Given the description of an element on the screen output the (x, y) to click on. 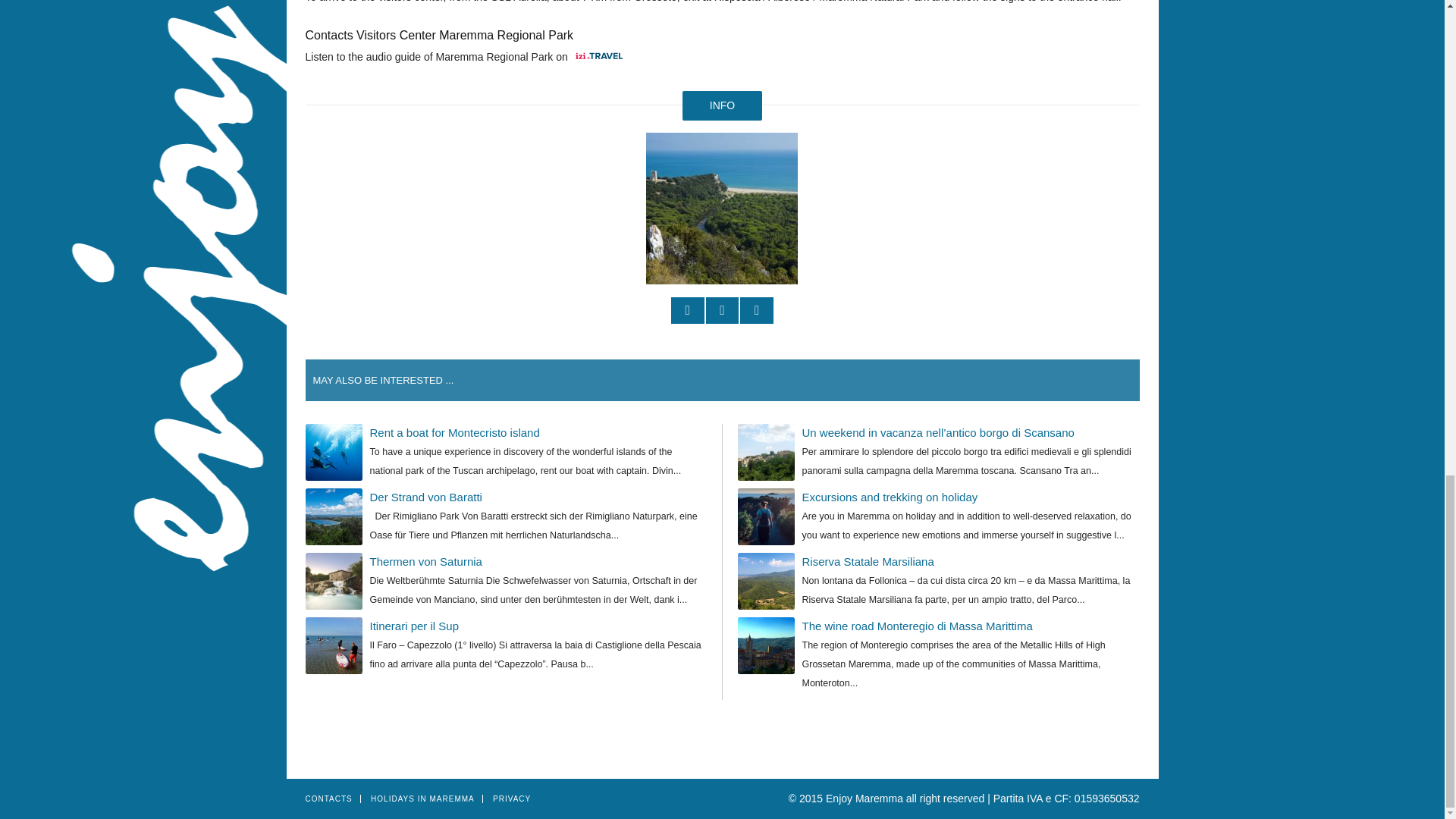
Maremma Regional Park (721, 208)
